Given the description of an element on the screen output the (x, y) to click on. 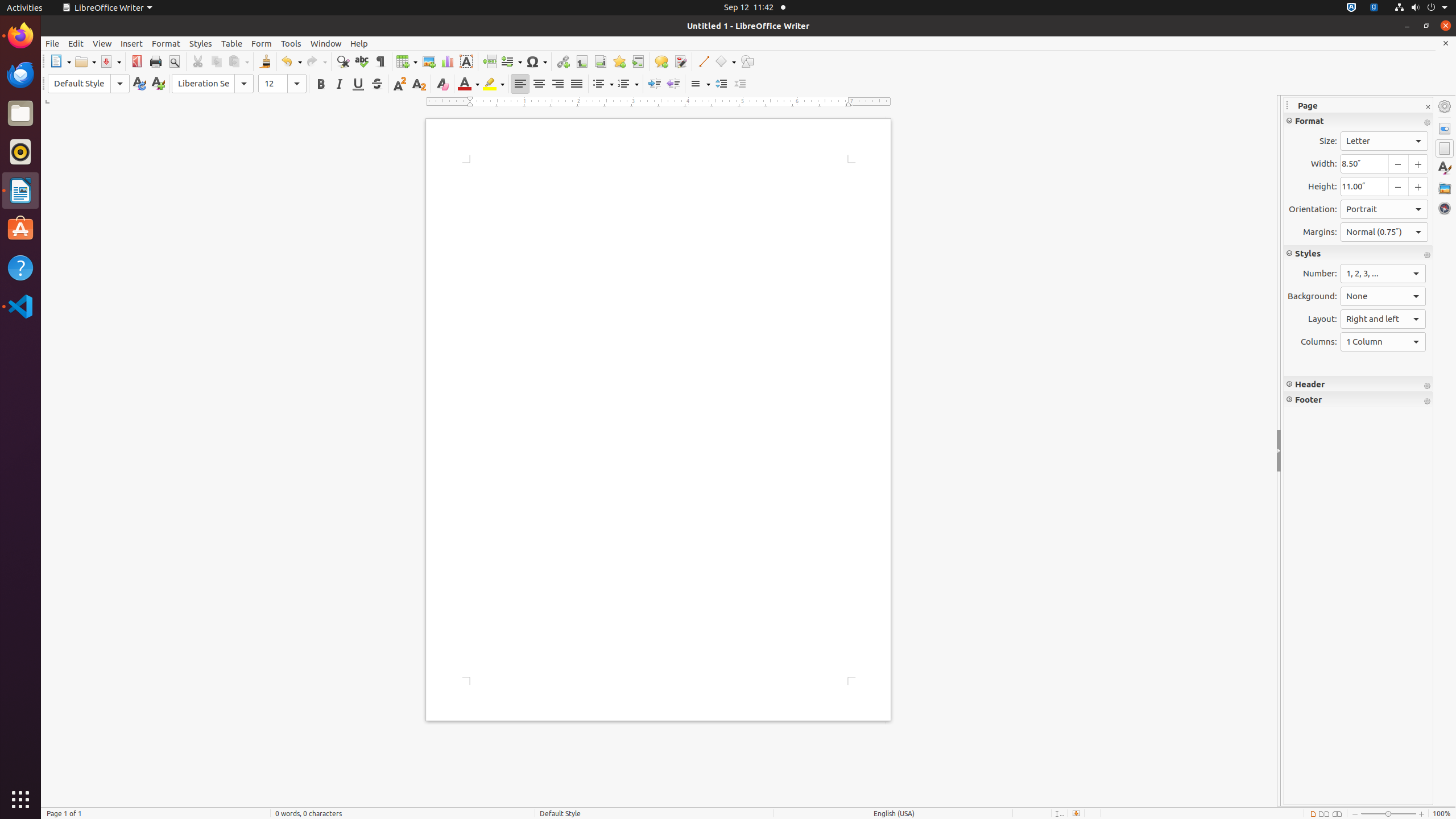
Redo Element type: push-button (315, 61)
LibreOffice Writer Element type: menu (106, 7)
Right Element type: toggle-button (557, 83)
Chart Element type: push-button (446, 61)
Font Color Element type: push-button (468, 83)
